Given the description of an element on the screen output the (x, y) to click on. 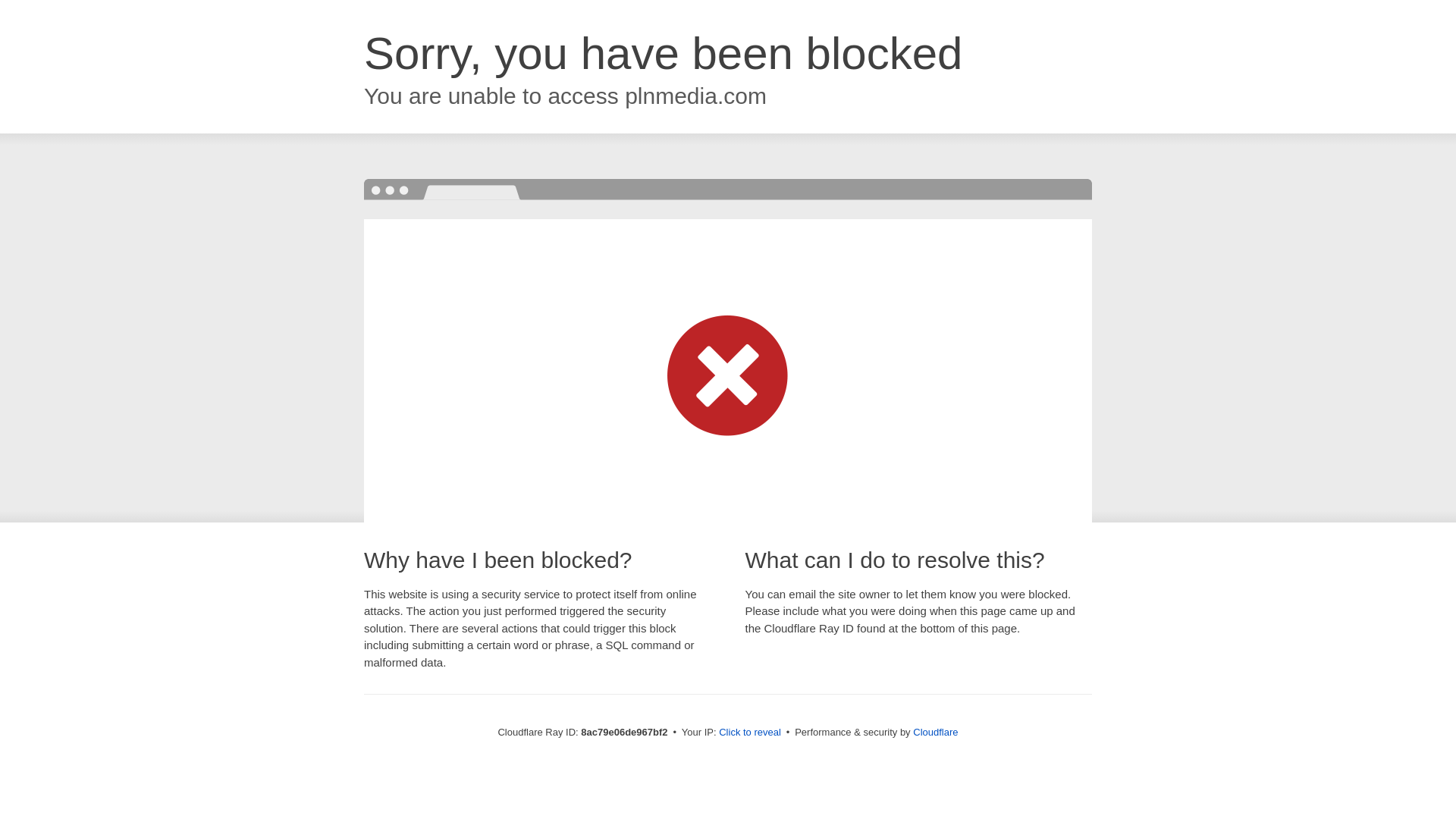
Cloudflare (935, 731)
Click to reveal (749, 732)
